Given the description of an element on the screen output the (x, y) to click on. 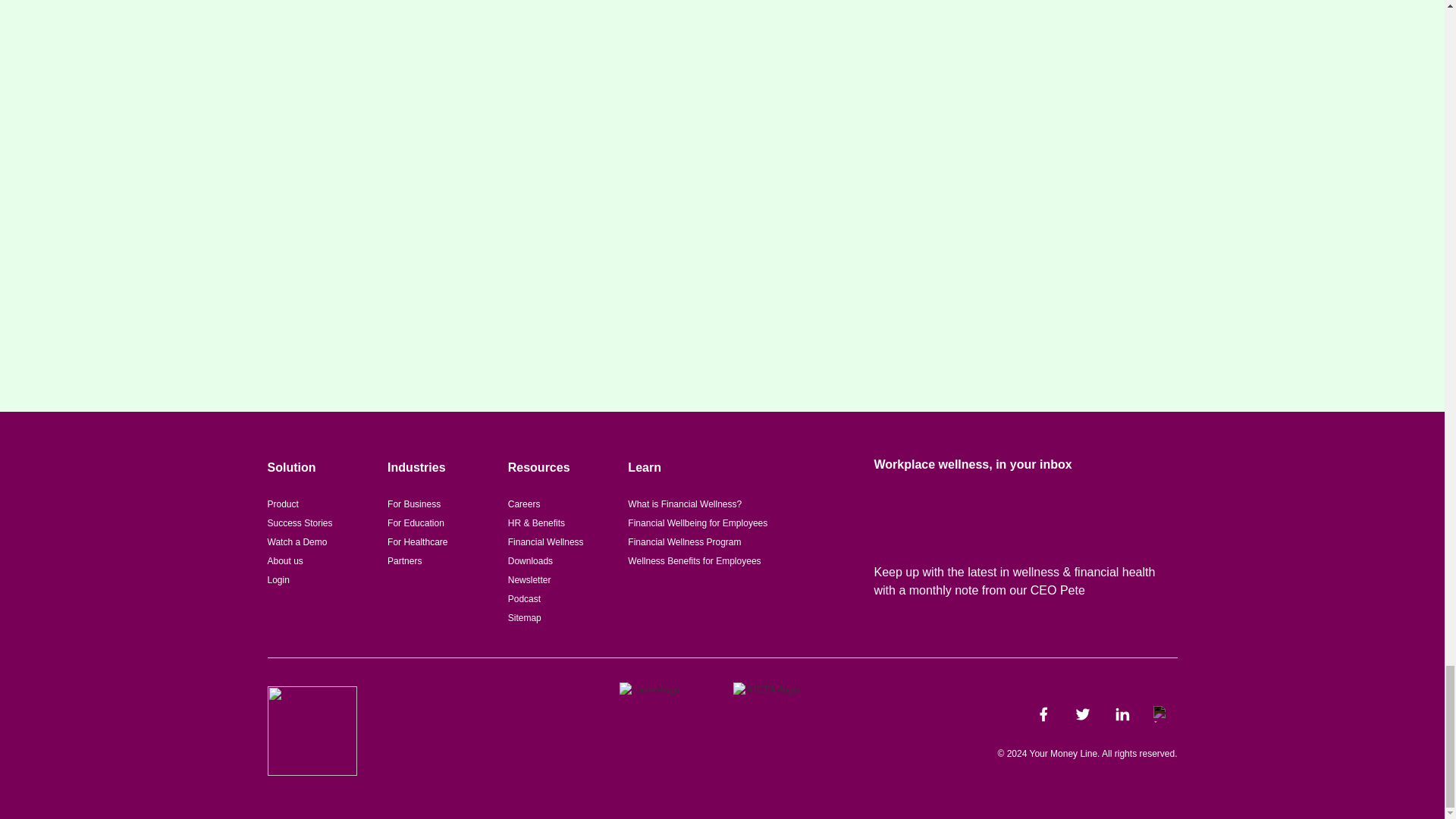
Success Stories (298, 522)
For Education (415, 522)
Partners (404, 561)
Watch a Demo (296, 542)
Careers (524, 503)
For Business (414, 503)
For Healthcare (416, 542)
Product (282, 503)
About us (284, 561)
Login (277, 579)
